Given the description of an element on the screen output the (x, y) to click on. 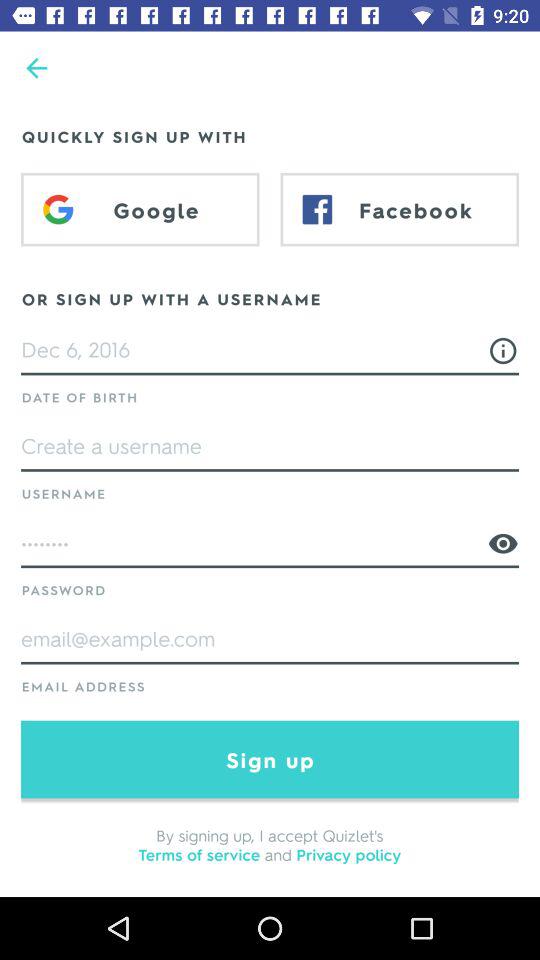
press google item (140, 209)
